Given the description of an element on the screen output the (x, y) to click on. 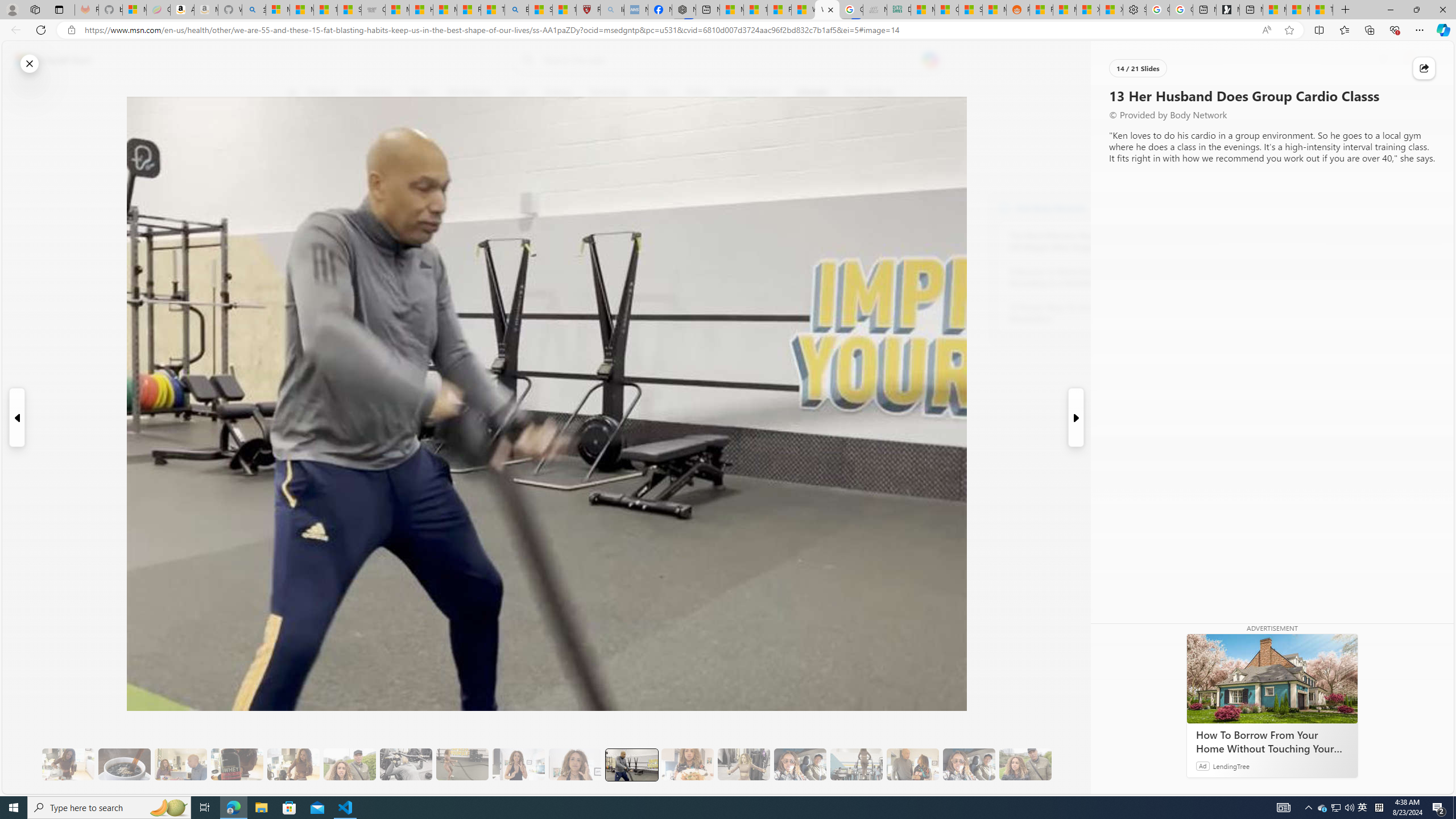
20 Overall, It Will Improve Your Health (1024, 764)
Entertainment (753, 92)
R******* | Trusted Community Engagement and Contributions (1041, 9)
8 Be Mindful of Coffee (124, 764)
12 Popular Science Lies that Must be Corrected (563, 9)
Food & Drink (865, 92)
15 They Also Indulge in a Low-Calorie Sweet Treat (743, 764)
